Given the description of an element on the screen output the (x, y) to click on. 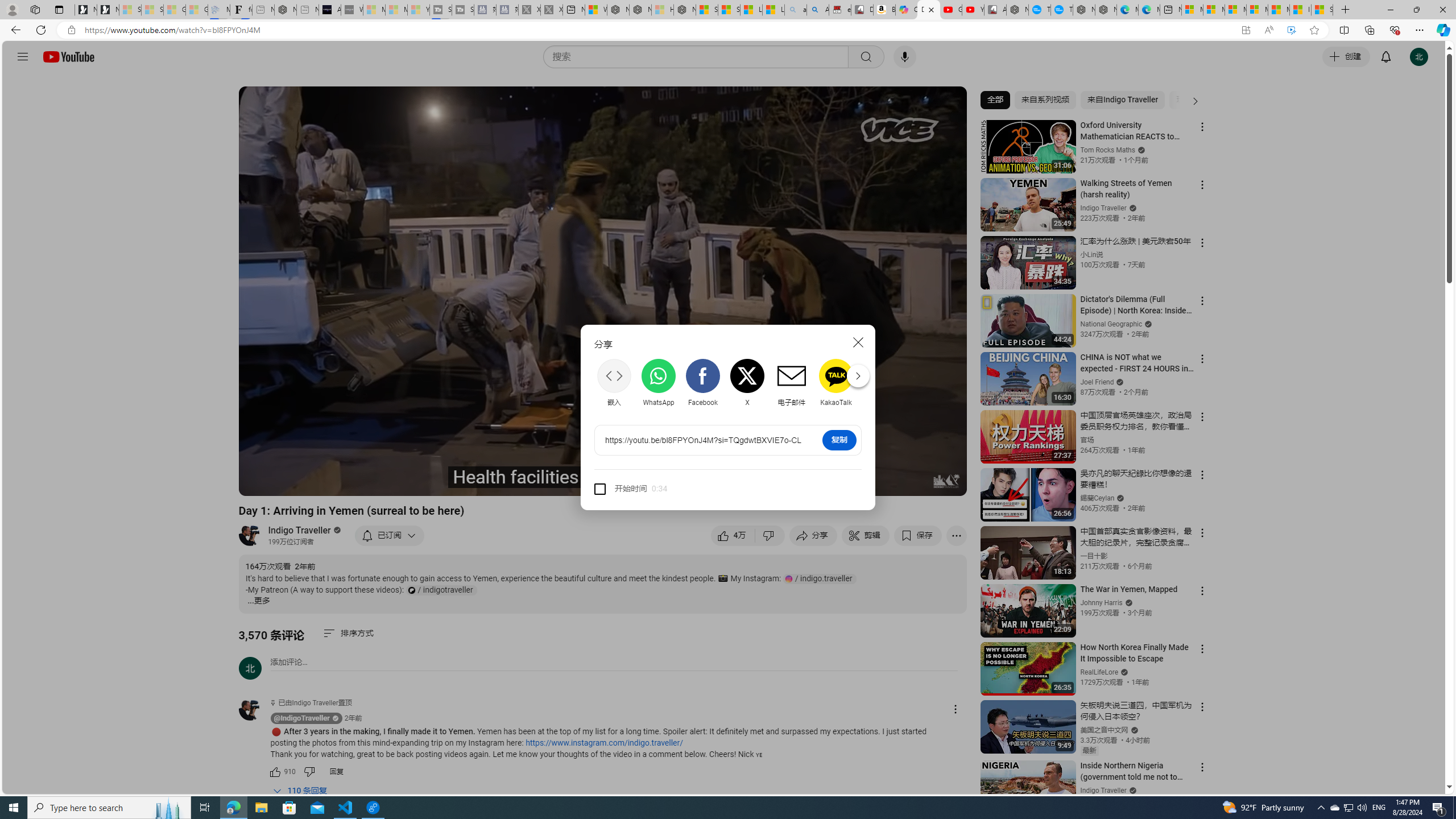
KakaoTalk (836, 382)
Reddit (879, 382)
I Gained 20 Pounds of Muscle in 30 Days! | Watch (1300, 9)
